Given the description of an element on the screen output the (x, y) to click on. 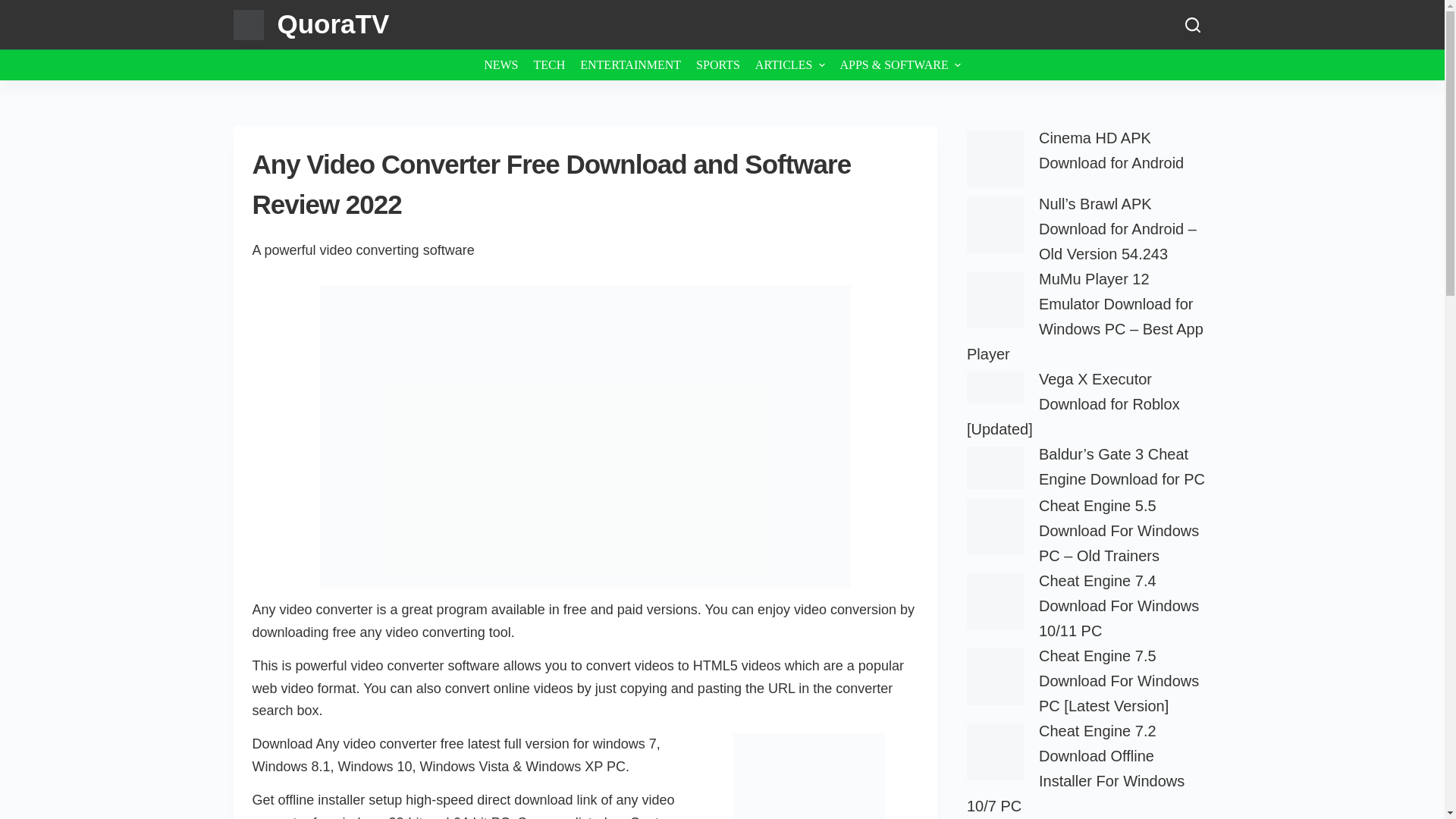
ARTICLES (790, 64)
SPORTS (718, 64)
QuoraTV (334, 23)
ENTERTAINMENT (630, 64)
NEWS (500, 64)
TECH (548, 64)
Any Video Converter Free Download and Software Review 2022 (584, 184)
Skip to content (15, 7)
